Given the description of an element on the screen output the (x, y) to click on. 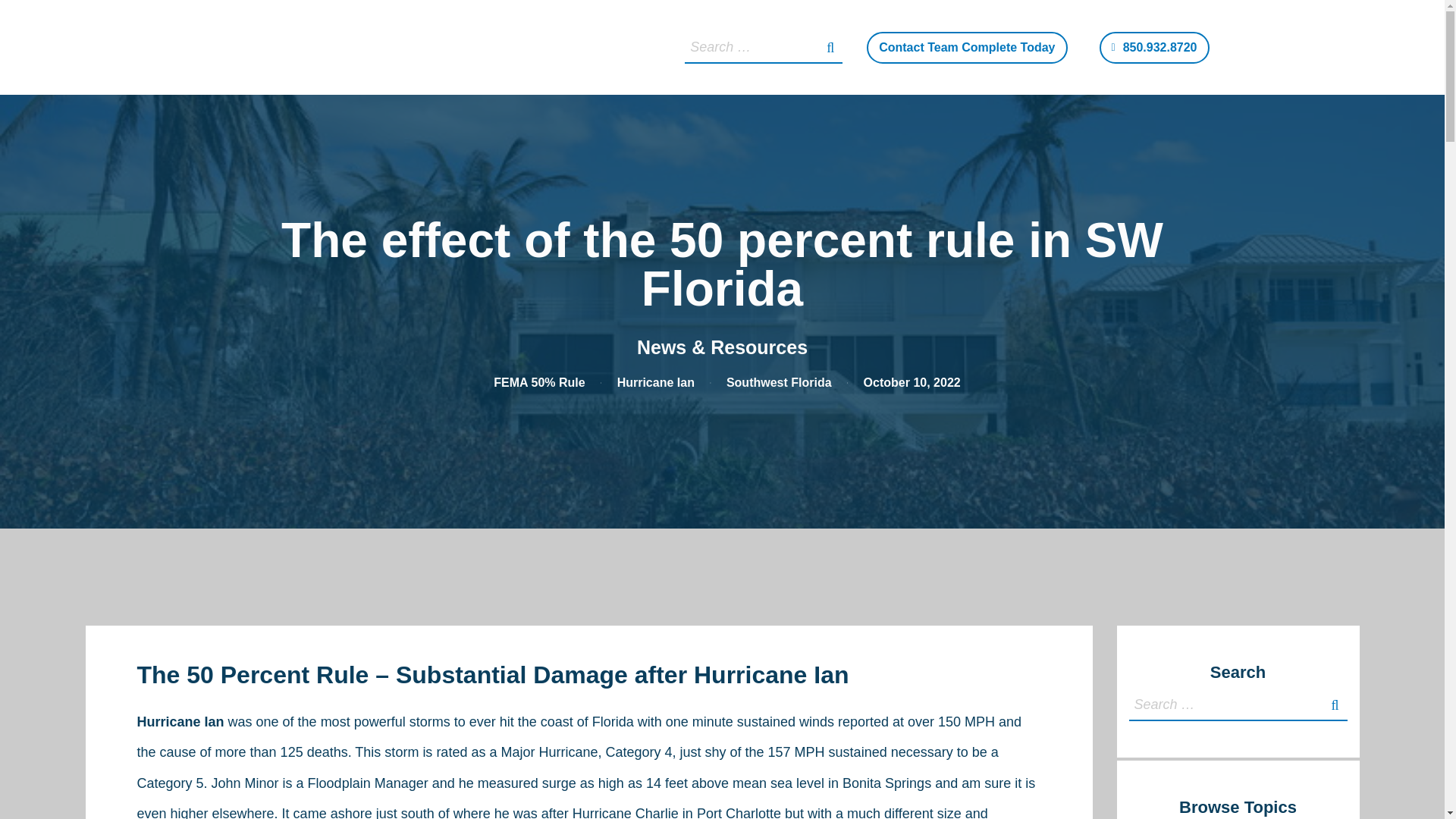
View all posts in Southwest Florida (778, 382)
Contact Team Complete Today (966, 47)
850.932.8720 (1154, 47)
View other posts this month (911, 382)
View all posts in Hurricane Ian (655, 382)
Hurricane Ian (655, 382)
